Given the description of an element on the screen output the (x, y) to click on. 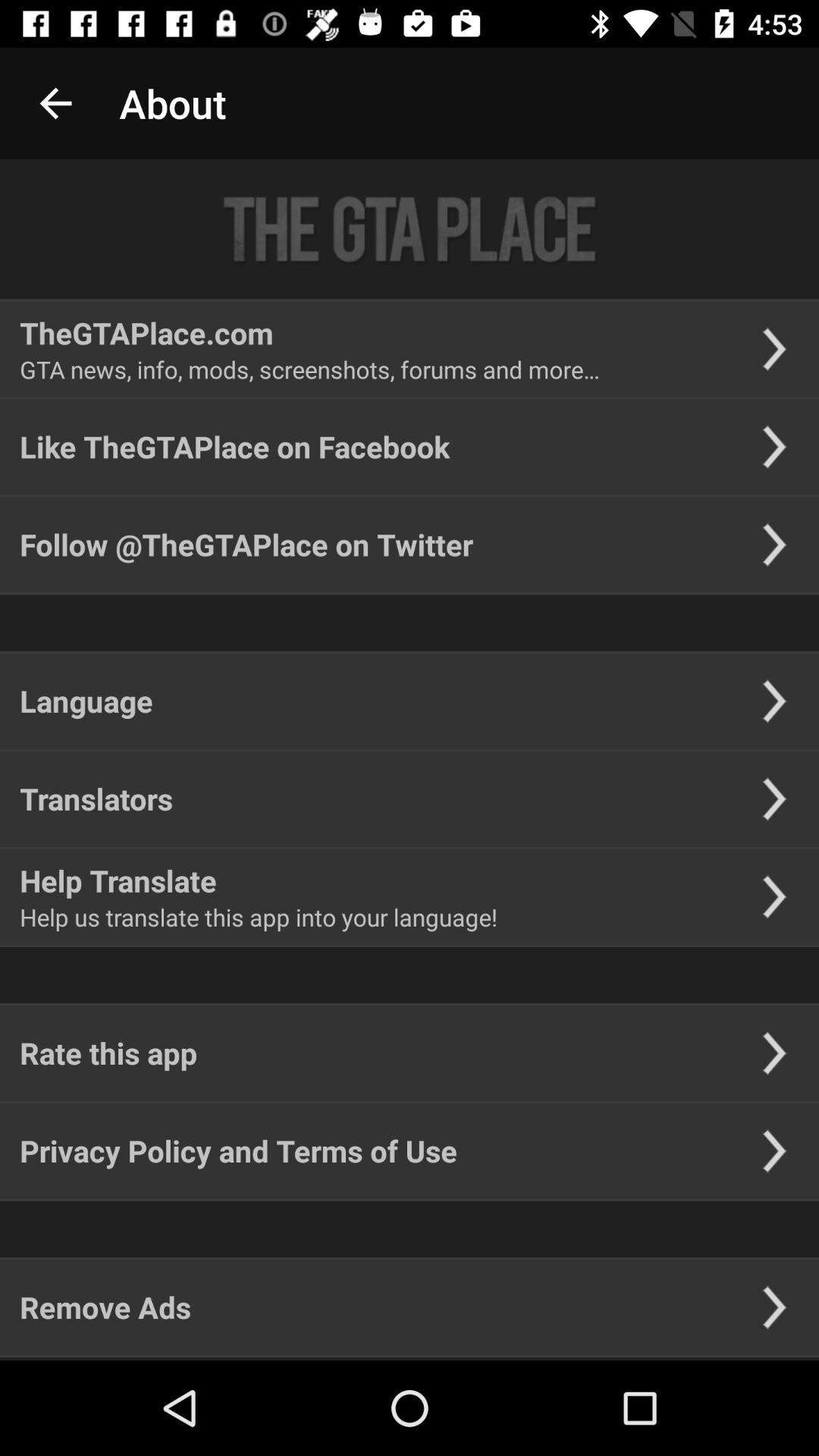
open the item above the help translate icon (95, 798)
